Given the description of an element on the screen output the (x, y) to click on. 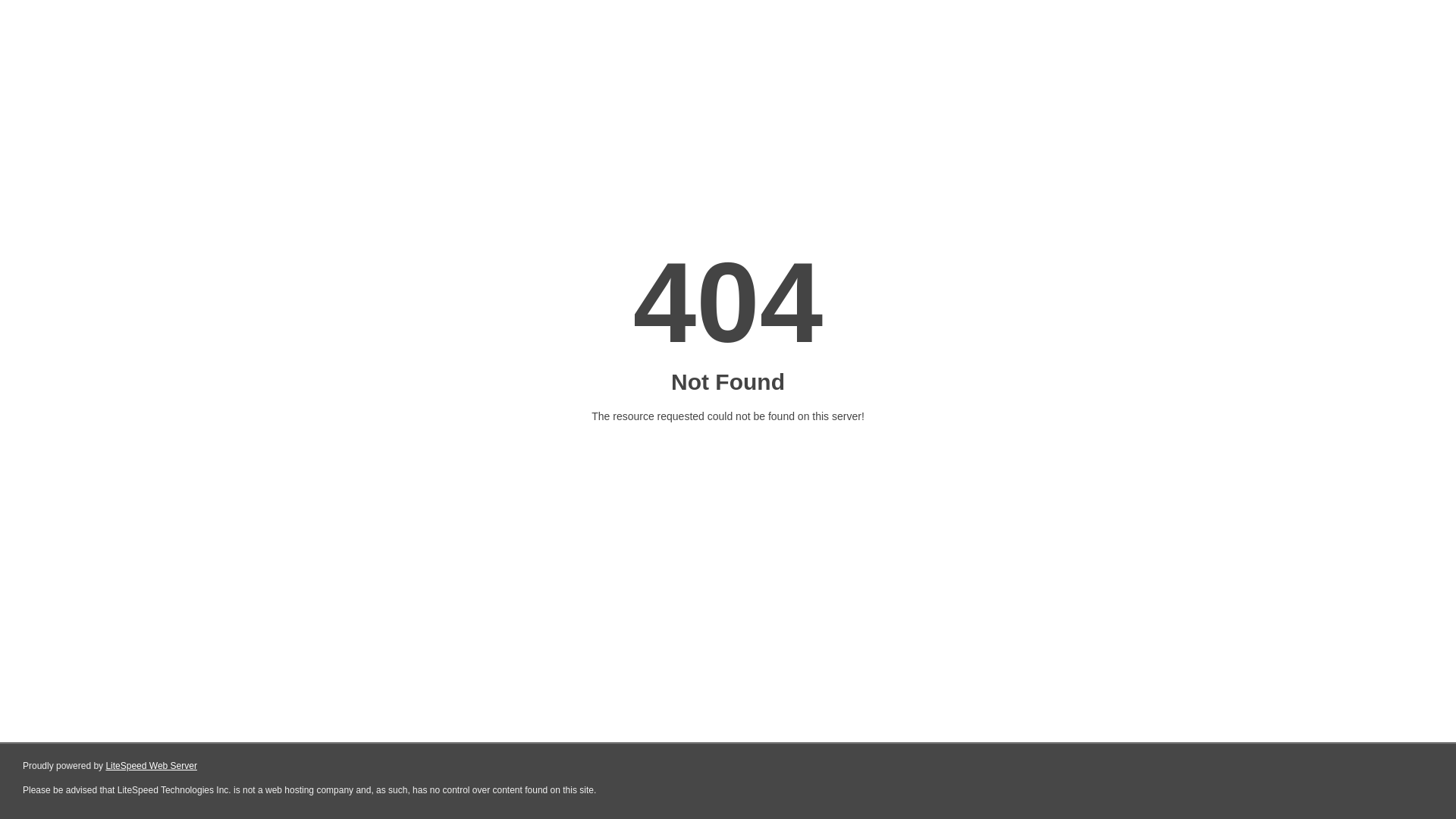
LiteSpeed Web Server Element type: text (151, 765)
